Given the description of an element on the screen output the (x, y) to click on. 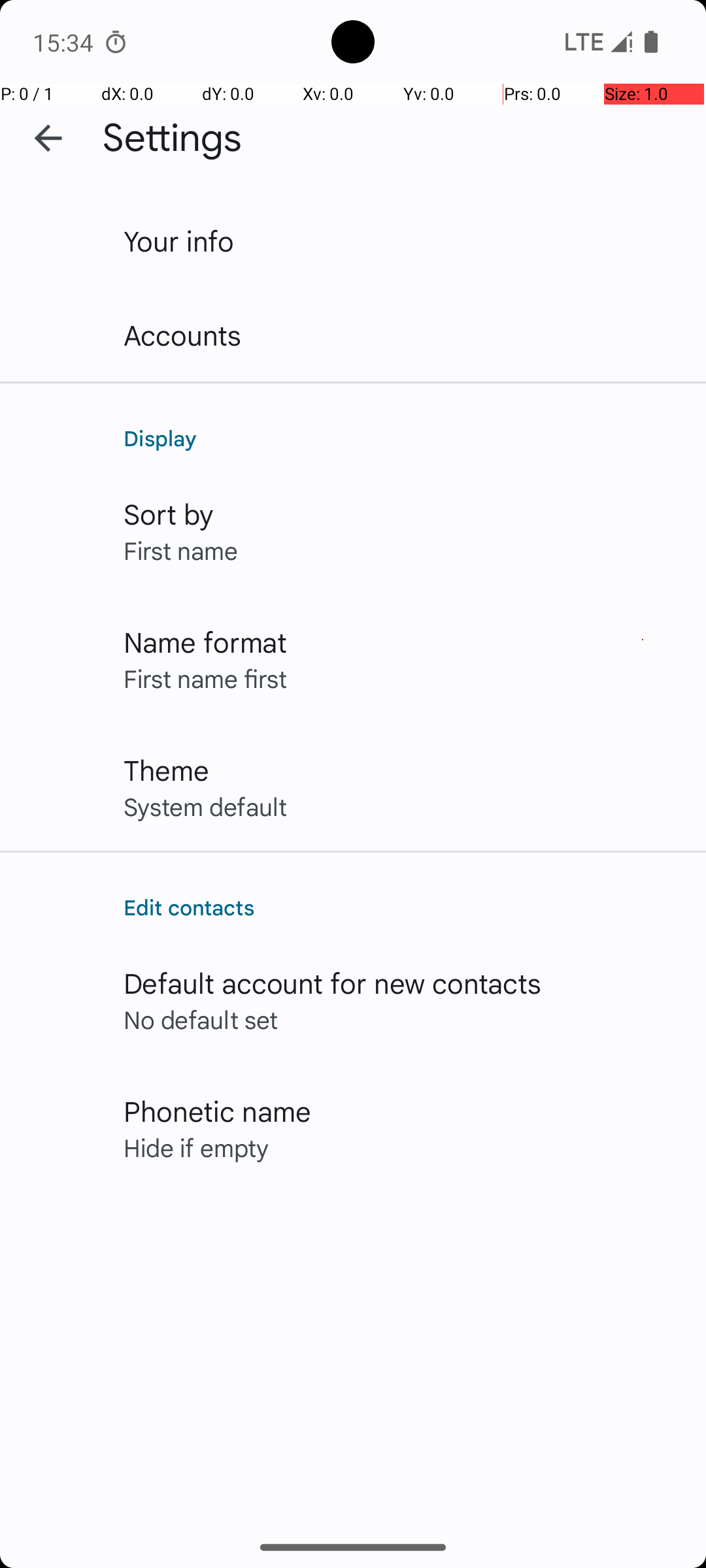
Your info Element type: android.widget.TextView (178, 240)
Accounts Element type: android.widget.TextView (182, 334)
Display Element type: android.widget.TextView (400, 437)
Name format Element type: android.widget.TextView (205, 641)
First name first Element type: android.widget.TextView (204, 678)
System default Element type: android.widget.TextView (204, 806)
Edit contacts Element type: android.widget.TextView (400, 906)
Default account for new contacts Element type: android.widget.TextView (332, 982)
No default set Element type: android.widget.TextView (200, 1019)
Phonetic name Element type: android.widget.TextView (217, 1110)
Hide if empty Element type: android.widget.TextView (196, 1147)
